Given the description of an element on the screen output the (x, y) to click on. 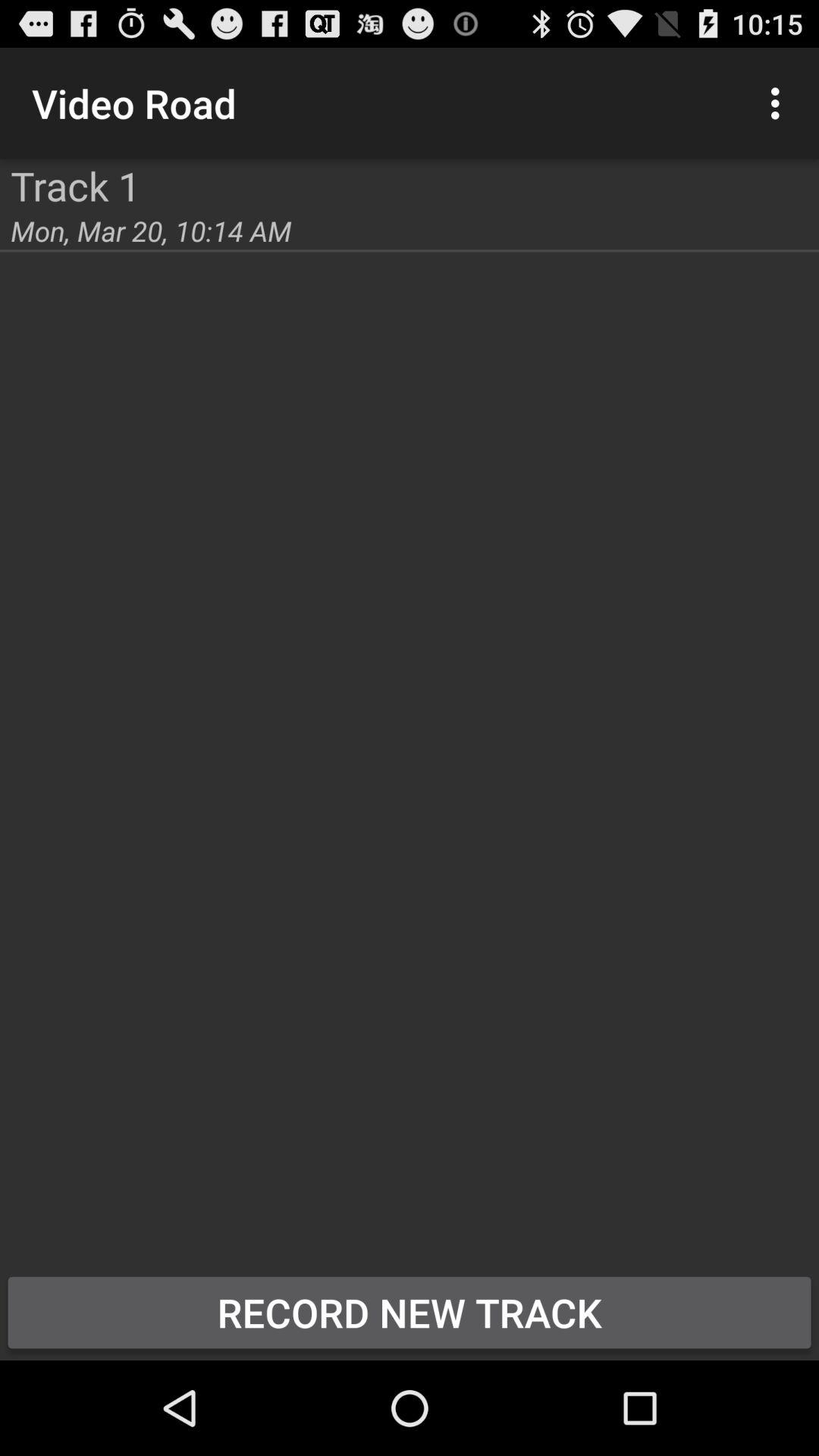
jump until the track 1 app (75, 185)
